Given the description of an element on the screen output the (x, y) to click on. 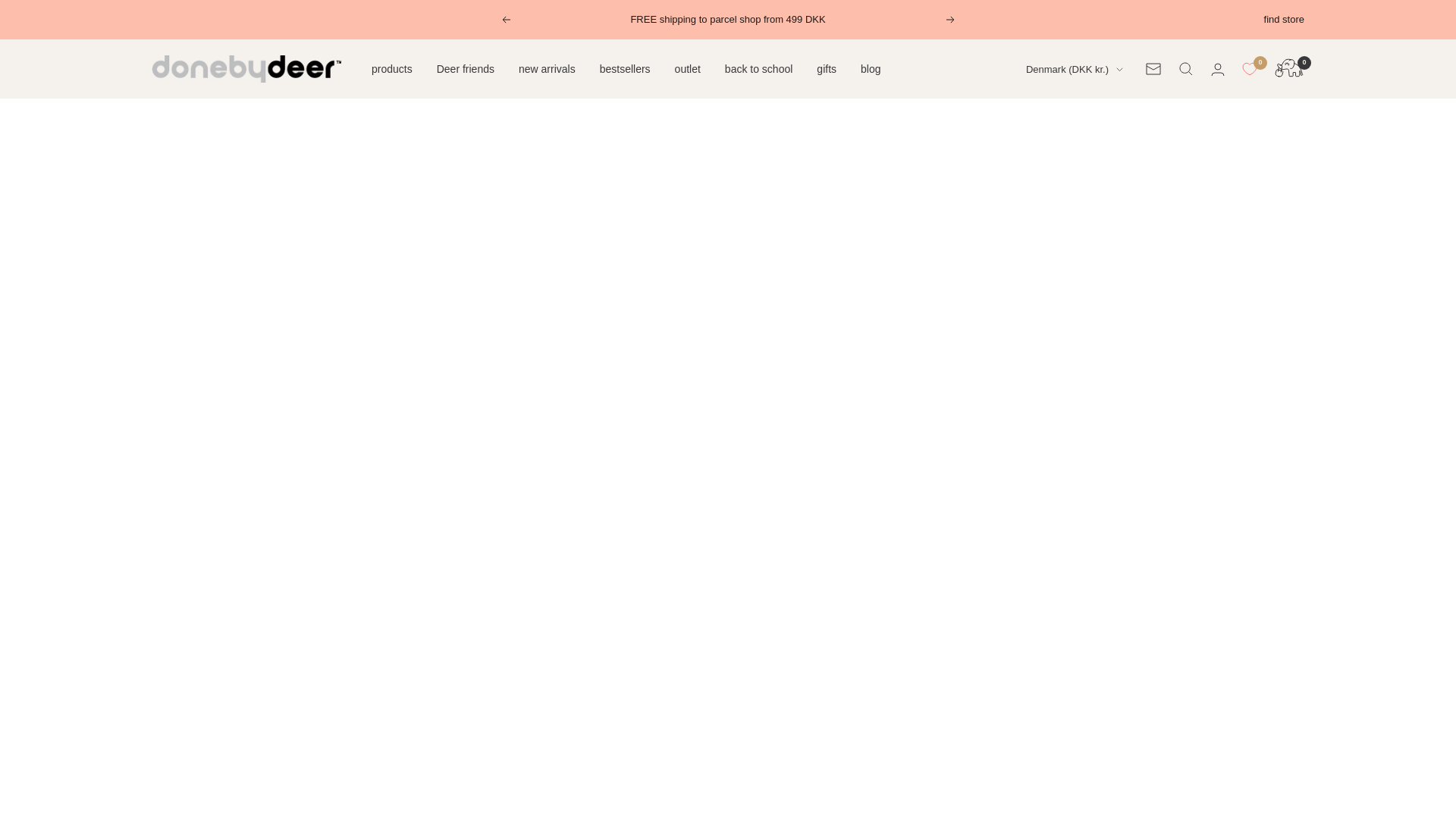
AT (1061, 119)
BE (1061, 144)
Done by Deer (245, 68)
FR (1061, 214)
products (391, 68)
PT (1061, 309)
FI (1061, 190)
Deer friends (465, 68)
Next (950, 19)
back to school (759, 68)
